Given the description of an element on the screen output the (x, y) to click on. 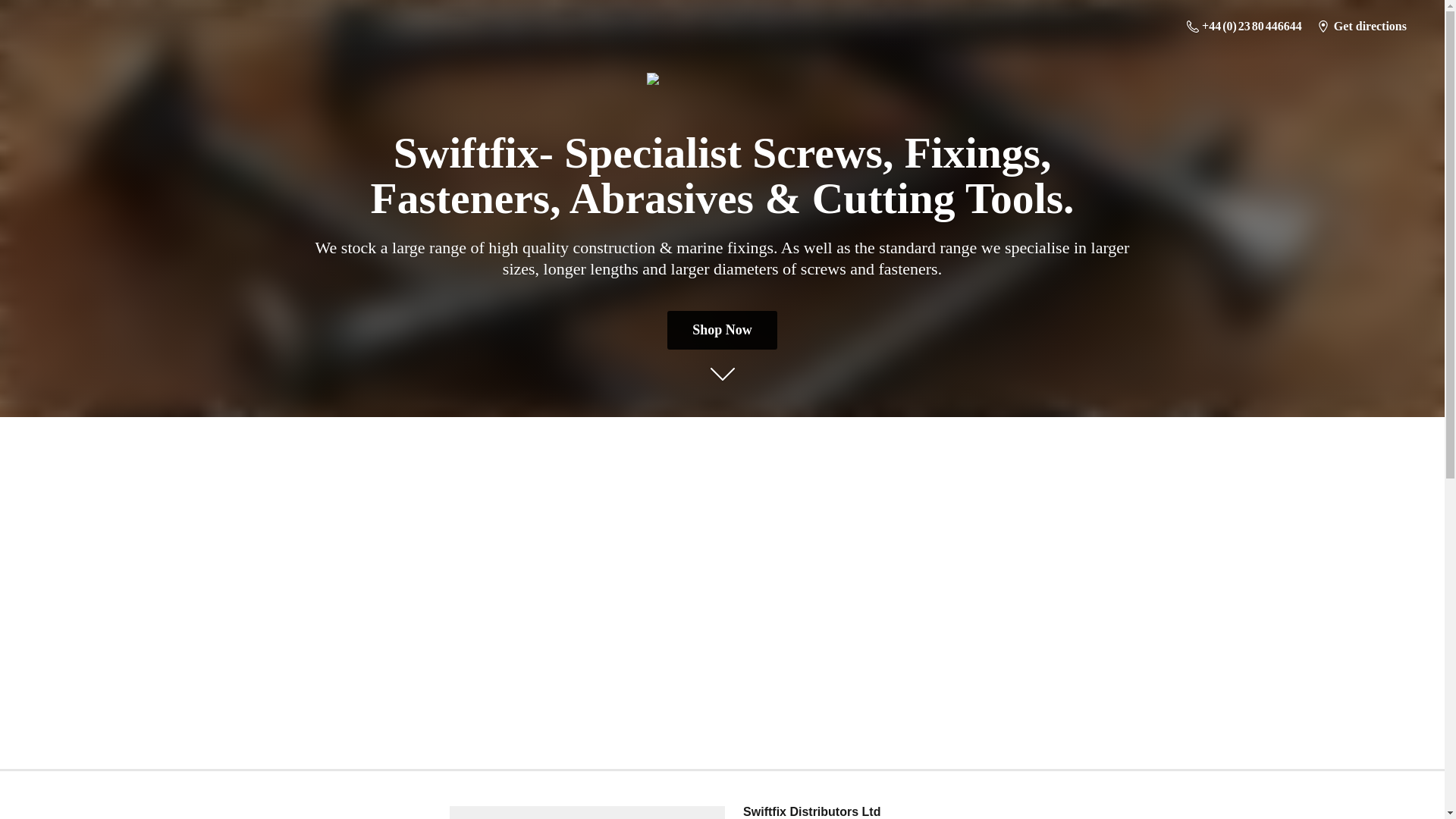
Shop Now (721, 330)
Get directions (1360, 26)
Location on map (586, 812)
